Given the description of an element on the screen output the (x, y) to click on. 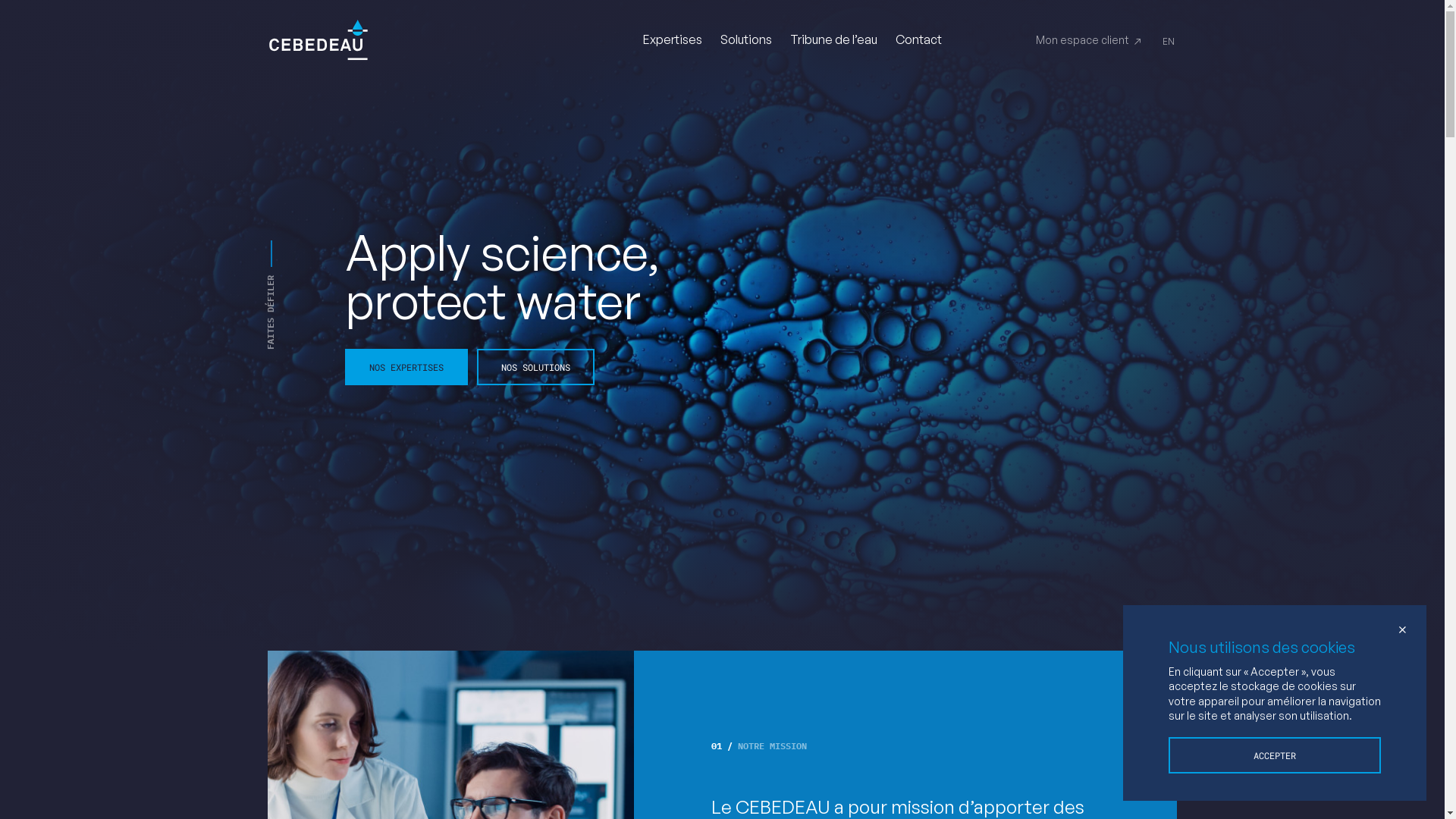
NOS EXPERTISES Element type: text (406, 366)
EN Element type: text (1167, 41)
Solutions Element type: text (745, 39)
Contact Element type: text (917, 39)
NOS SOLUTIONS Element type: text (535, 366)
ACCEPTER Element type: text (1274, 755)
Expertises Element type: text (672, 39)
Fermer Element type: text (1402, 629)
Mon espace client Element type: text (1088, 40)
